Given the description of an element on the screen output the (x, y) to click on. 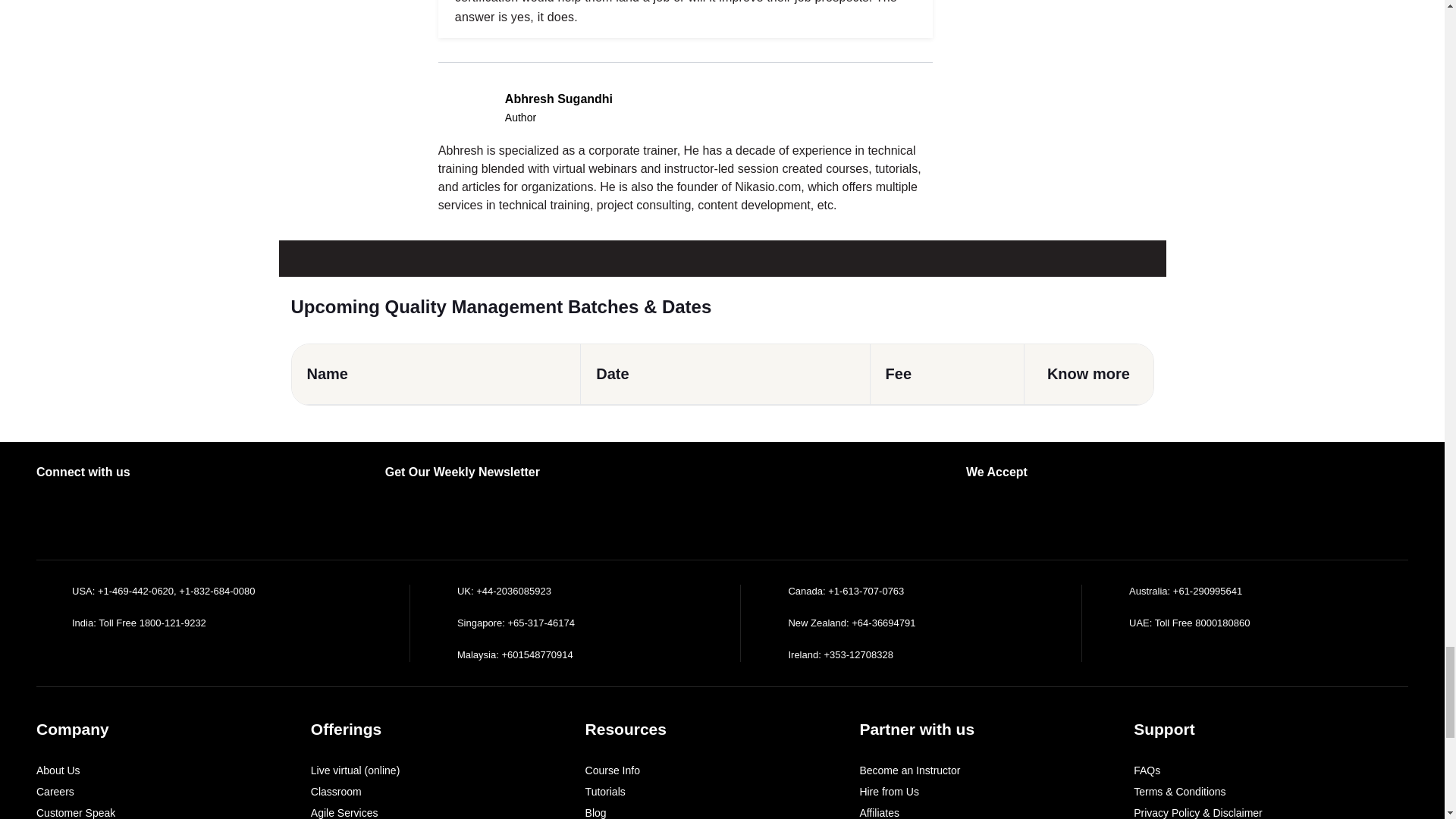
1800-121-9232 (172, 622)
